Given the description of an element on the screen output the (x, y) to click on. 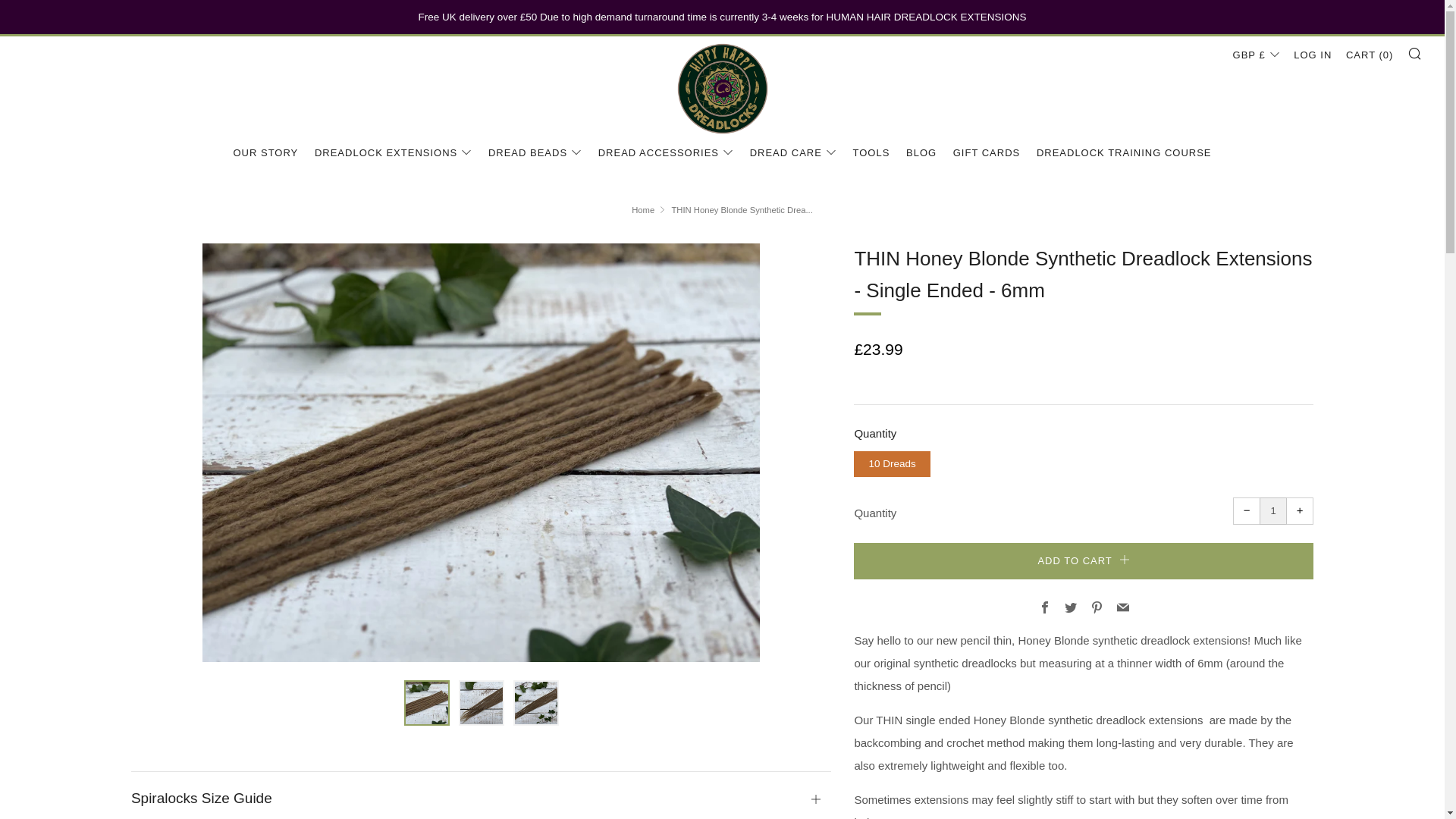
1 (1273, 510)
Home (642, 209)
